Given the description of an element on the screen output the (x, y) to click on. 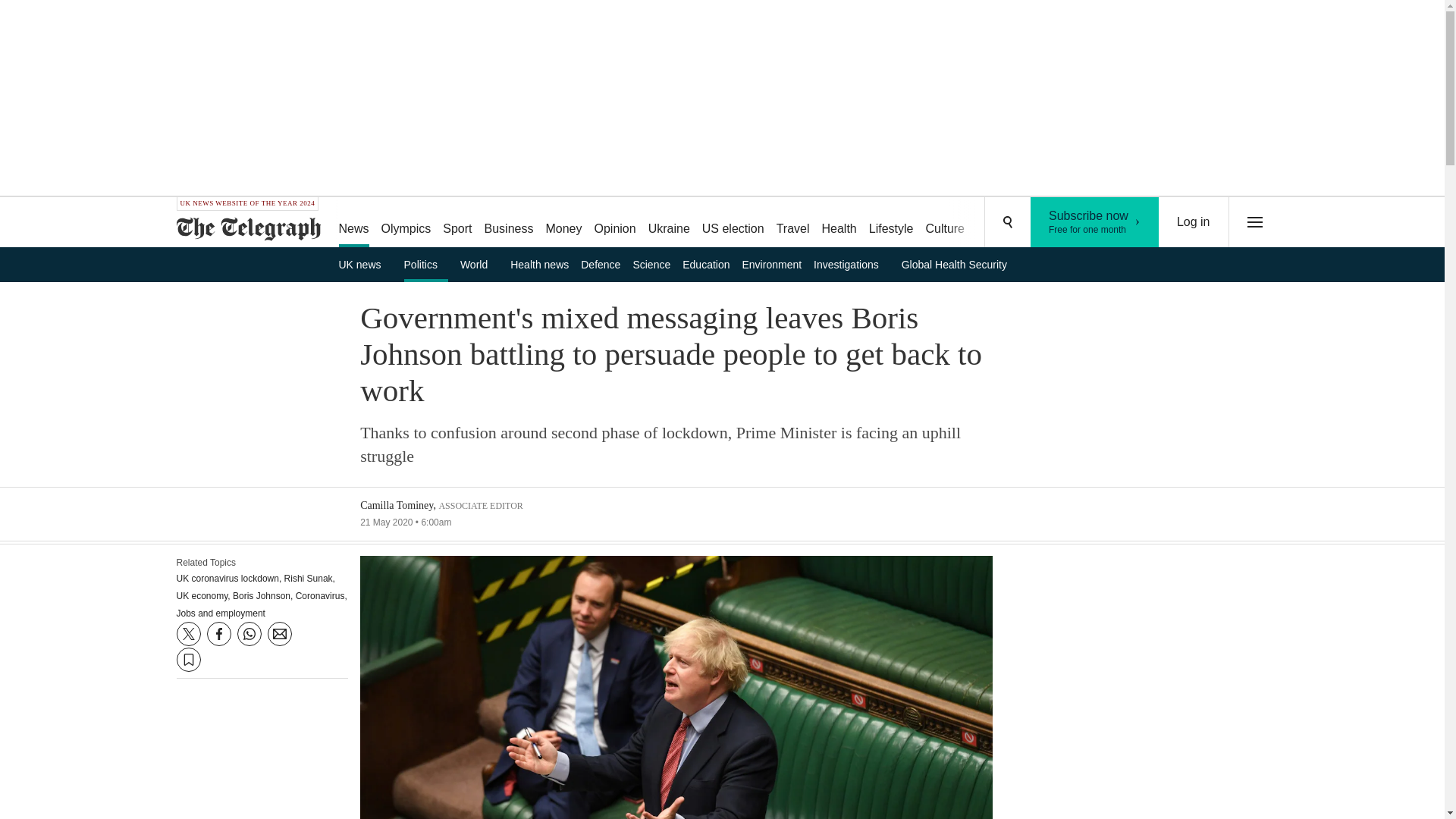
Podcasts (1056, 223)
Opinion (615, 223)
UK news (364, 264)
News (352, 223)
Log in (1193, 222)
Lifestyle (891, 223)
Ukraine (668, 223)
US election (732, 223)
Business (509, 223)
Olympics (406, 223)
Money (563, 223)
Culture (944, 223)
World (478, 264)
Health (838, 223)
